Given the description of an element on the screen output the (x, y) to click on. 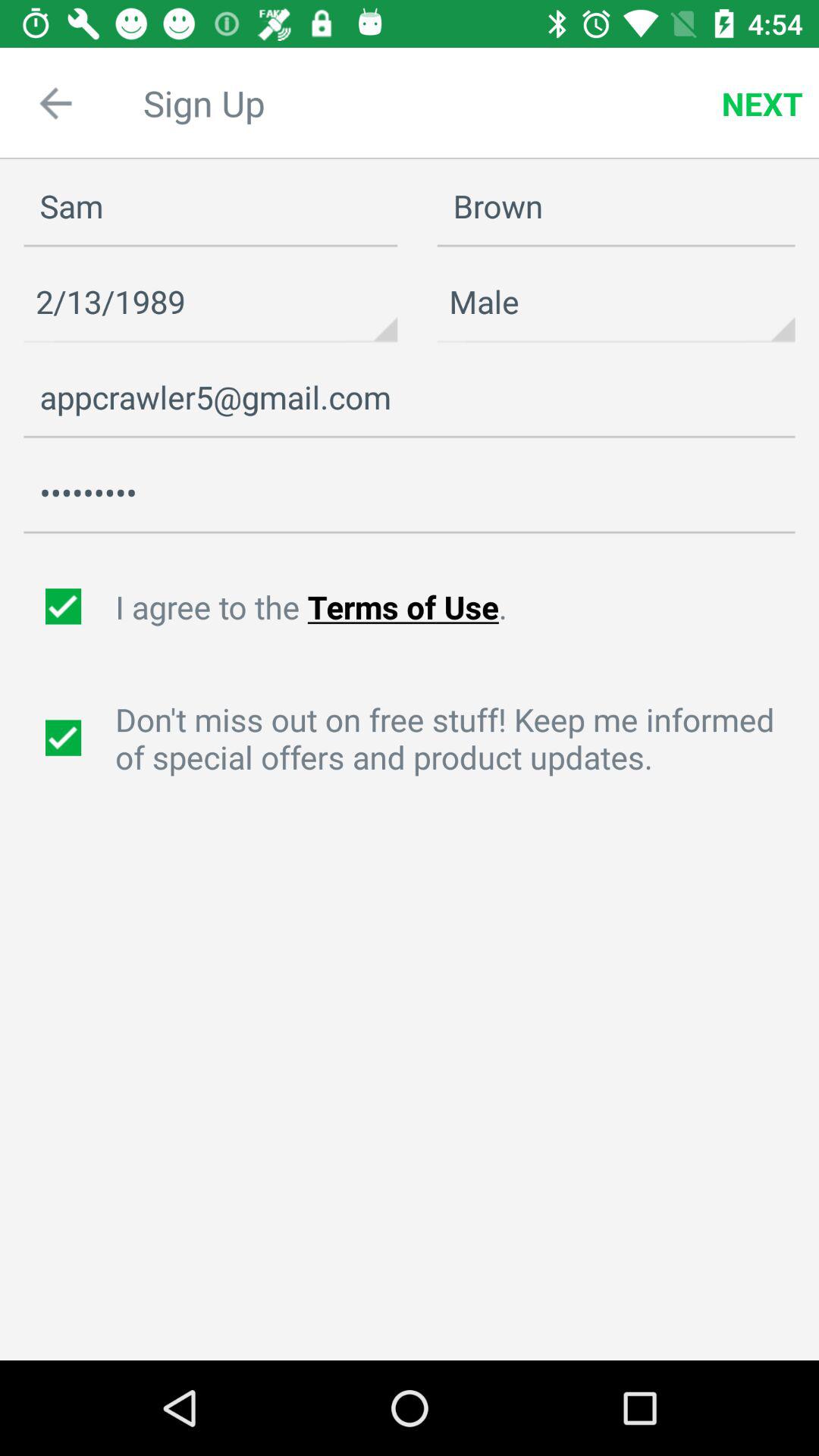
launch the brown item (616, 206)
